Given the description of an element on the screen output the (x, y) to click on. 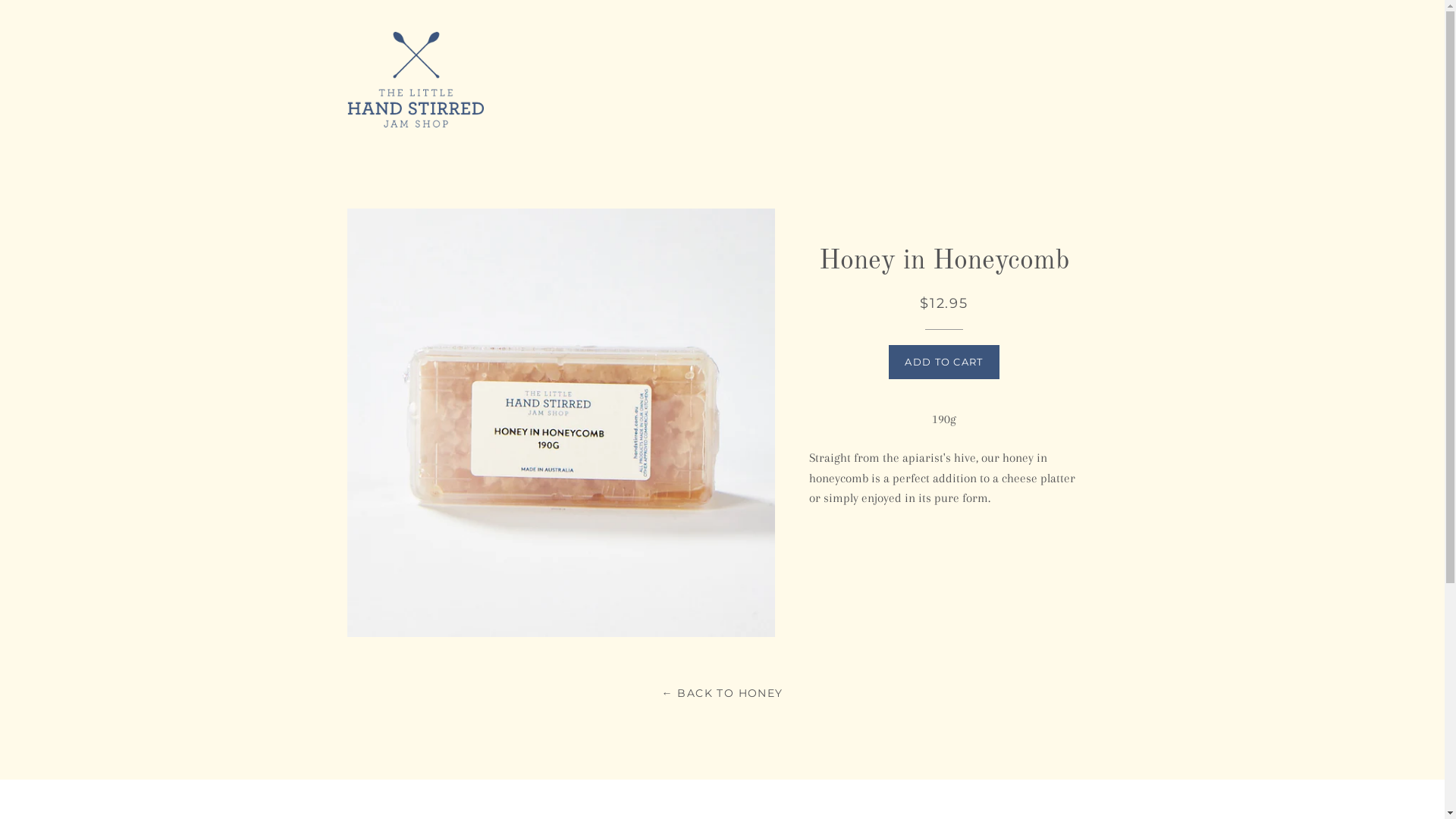
ADD TO CART Element type: text (943, 361)
